Given the description of an element on the screen output the (x, y) to click on. 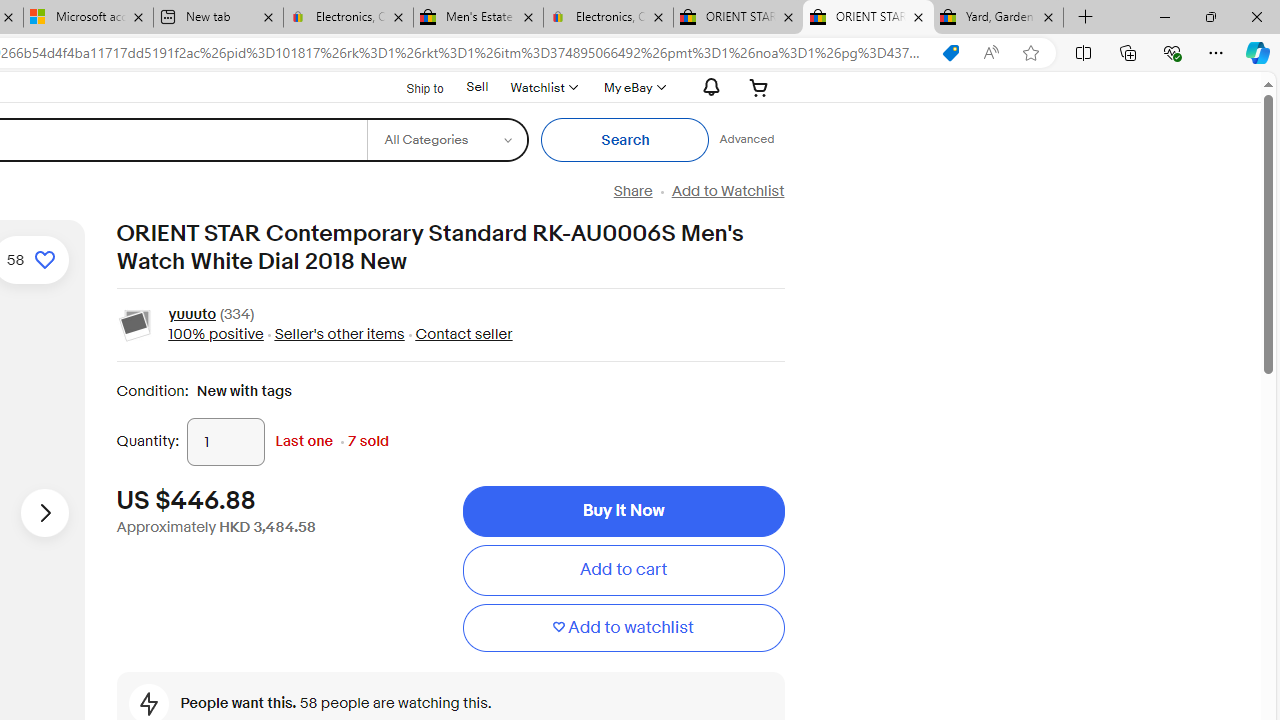
WatchlistExpand Watch List (543, 87)
Expand Cart (759, 87)
My eBay (632, 87)
Add to watchlist (623, 627)
  Seller's other items (333, 334)
Seller's other items (338, 334)
AutomationID: gh-eb-Alerts (708, 87)
100% positive (215, 334)
